Given the description of an element on the screen output the (x, y) to click on. 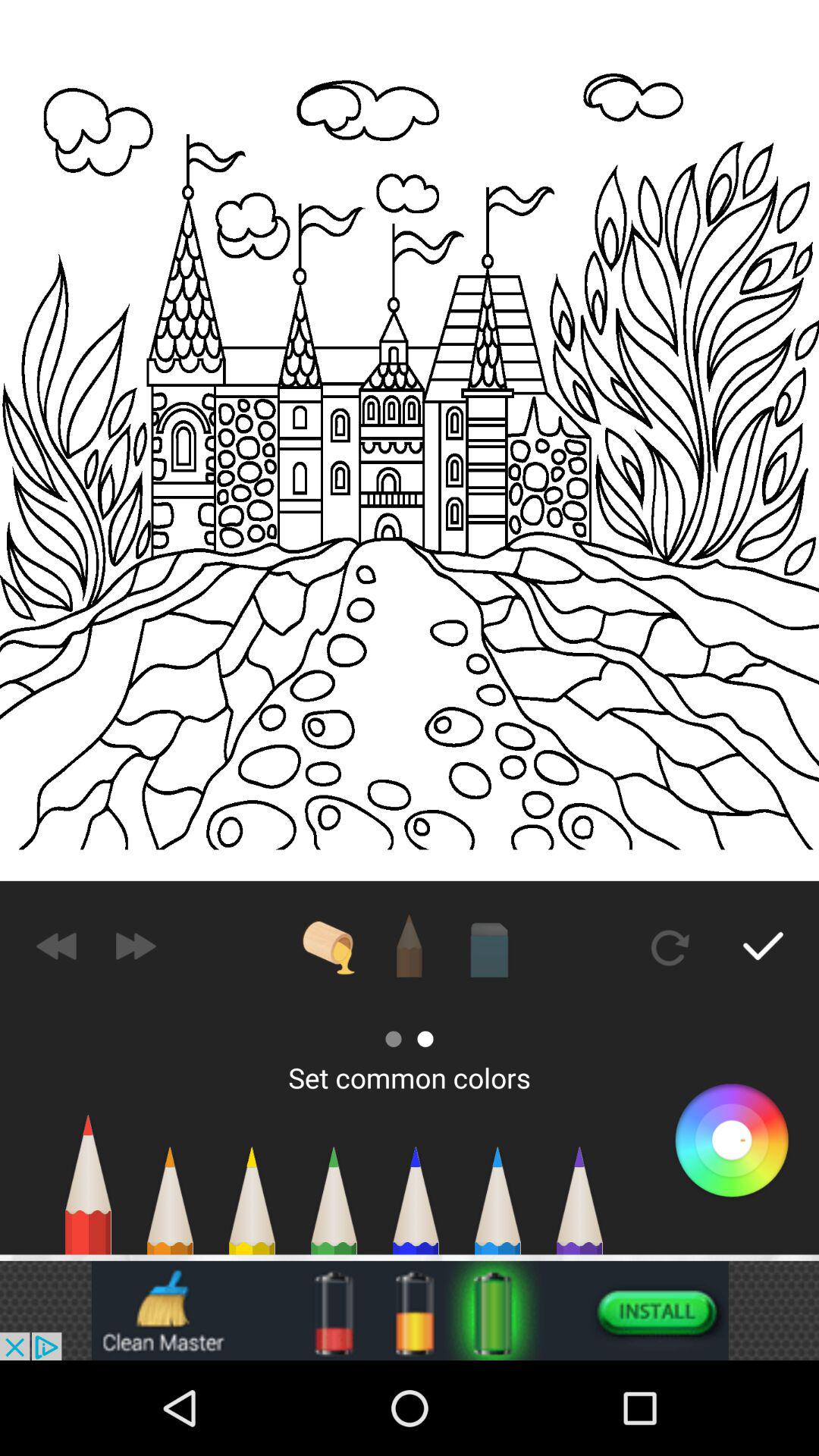
click on the check mark icon which is just beside the refresh icon (763, 945)
select the text blue pencil (497, 1208)
select the text purple pencil (579, 1208)
click on the navy blue pencil icon (415, 1208)
select the pencil icon below the picture (409, 945)
